Given the description of an element on the screen output the (x, y) to click on. 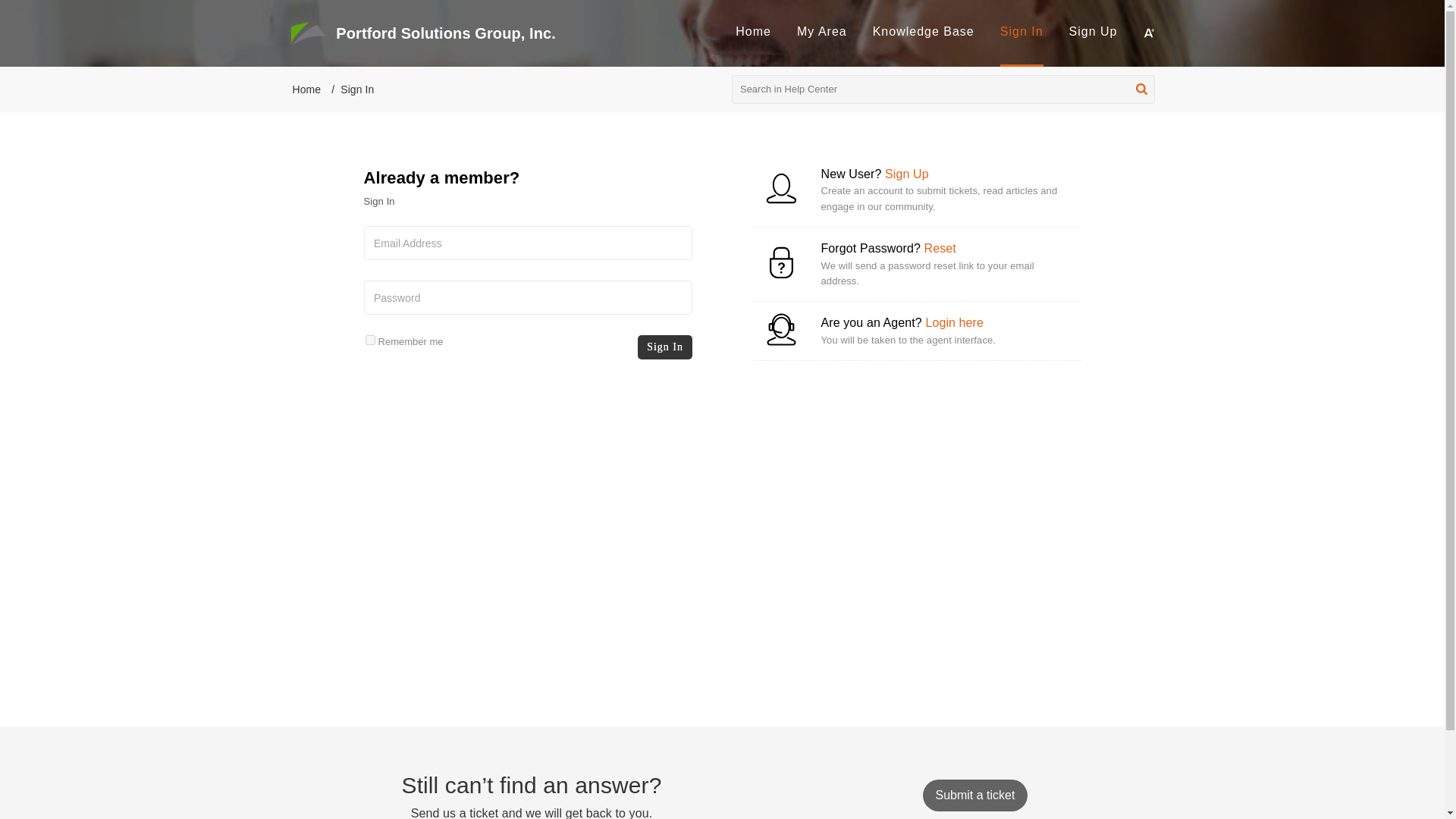
Knowledge Base (923, 31)
Sign Up (1093, 31)
Knowledge Base (923, 33)
My Area (821, 31)
Submit a ticket (974, 795)
Home (753, 31)
Sign Up (906, 173)
Login here (954, 322)
Sign In (1021, 31)
Submit a ticket (974, 794)
